Given the description of an element on the screen output the (x, y) to click on. 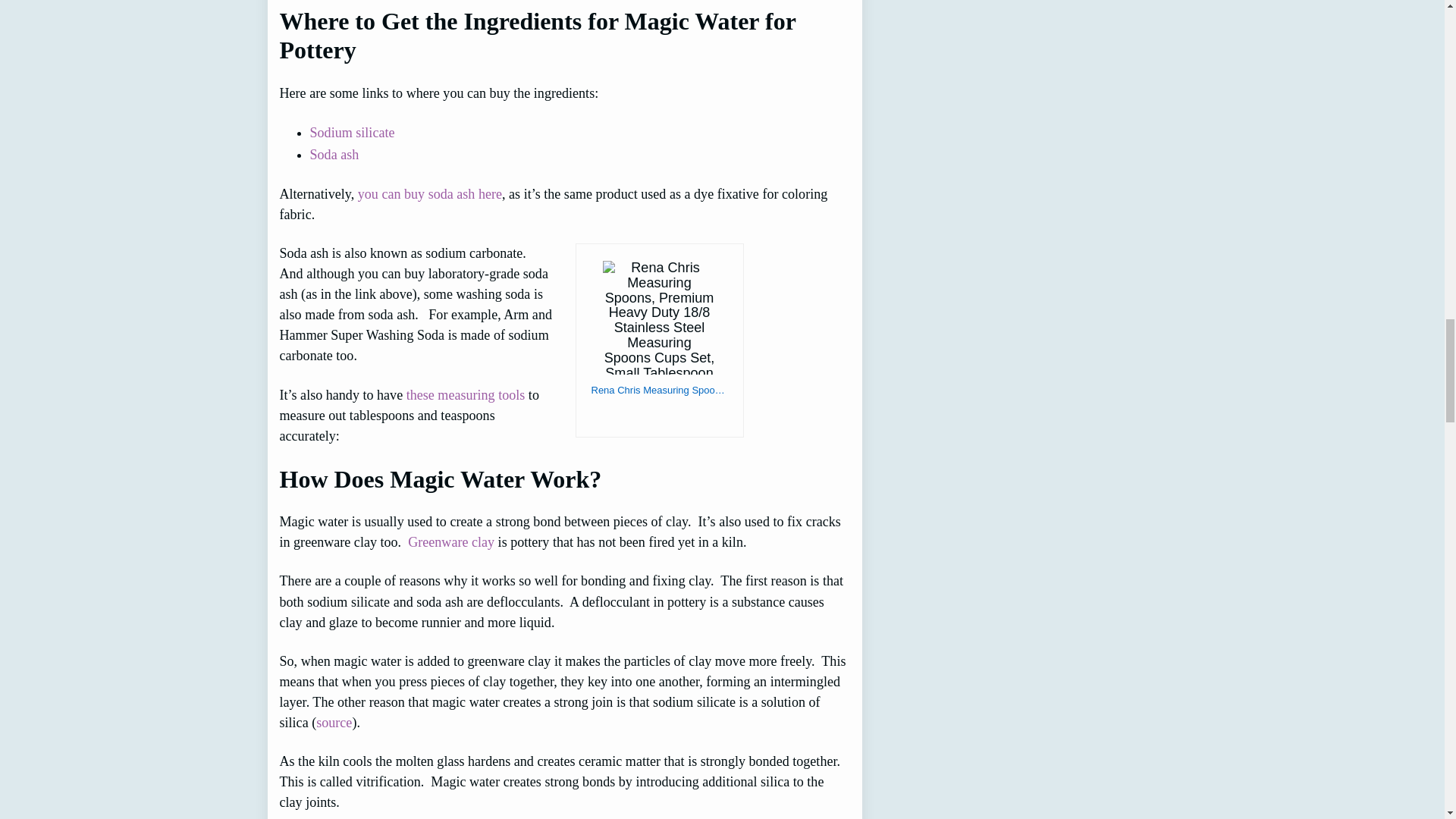
Greenware clay (451, 541)
you can buy soda ash here (430, 193)
Sodium silicate (351, 132)
these measuring tools (465, 394)
Soda ash (333, 154)
